Given the description of an element on the screen output the (x, y) to click on. 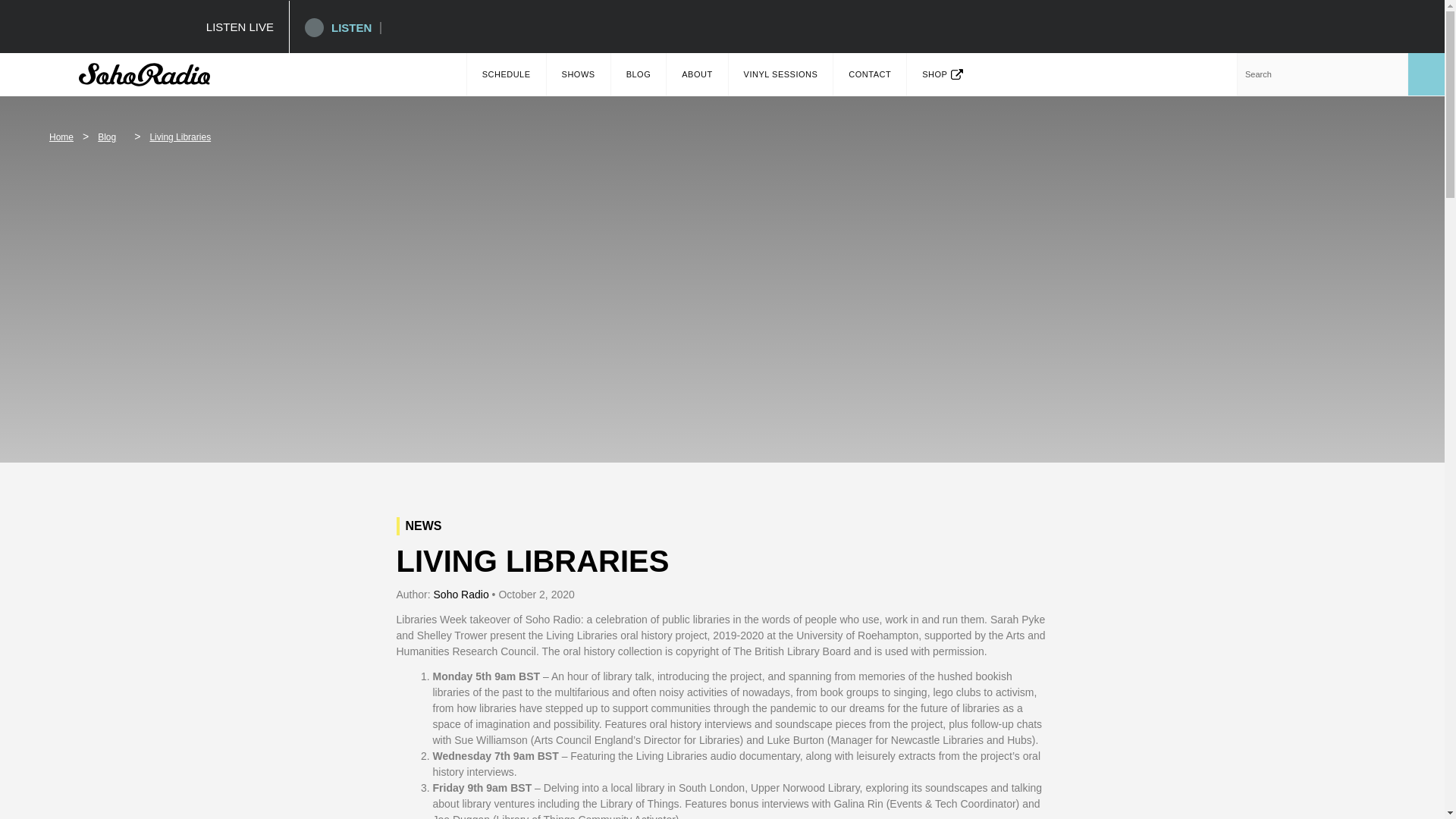
Blog (106, 136)
Search (1321, 74)
VINYL SESSIONS (780, 74)
SCHEDULE (506, 74)
Living Libraries (180, 136)
Home (61, 136)
ABOUT (696, 74)
SHOWS (578, 74)
BLOG (638, 74)
SHOP (942, 74)
